Given the description of an element on the screen output the (x, y) to click on. 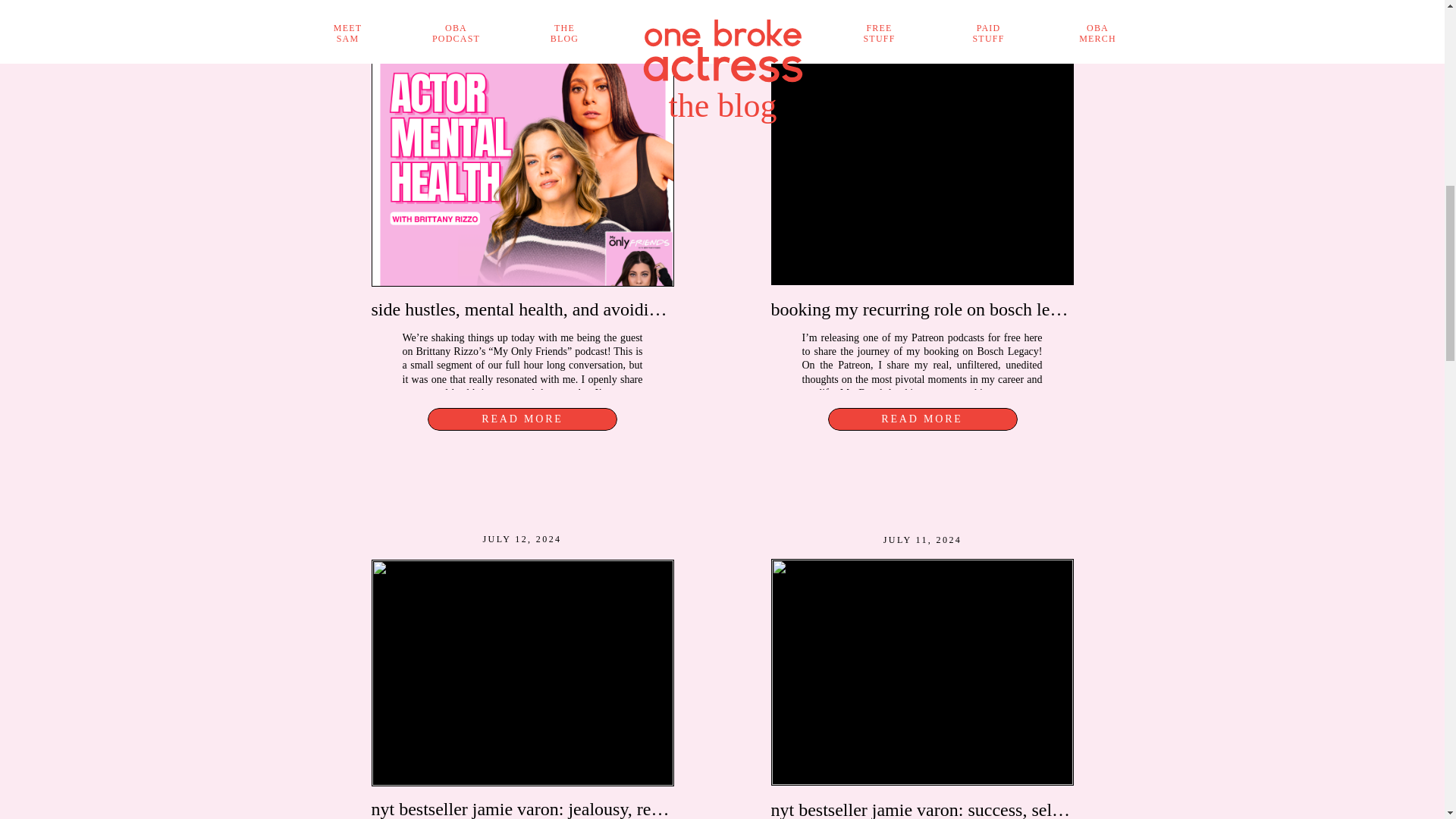
READ MORE (921, 419)
READ MORE (521, 419)
